Given the description of an element on the screen output the (x, y) to click on. 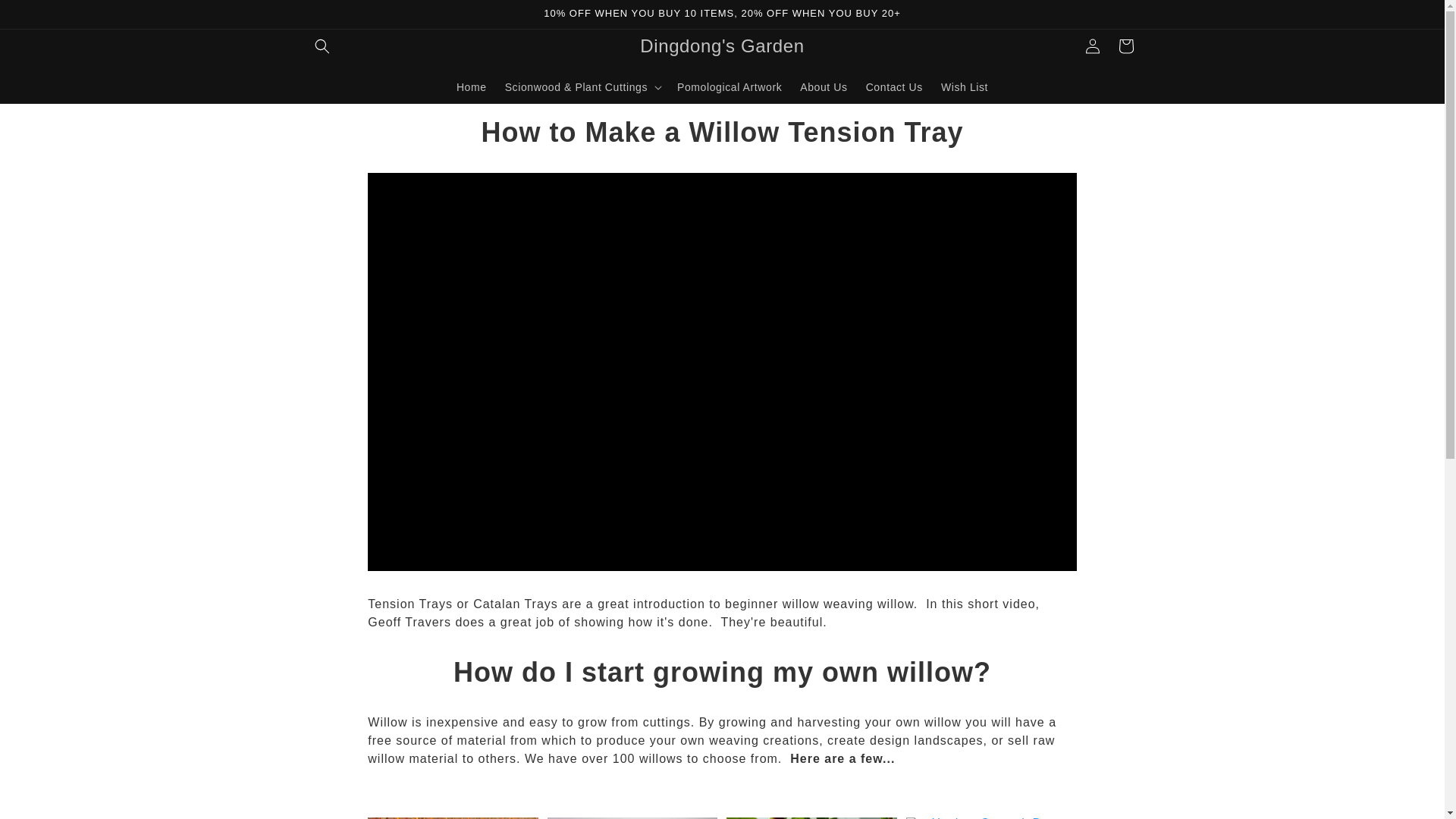
Pomological Artwork (729, 87)
Wish List (964, 87)
Contact Us (894, 87)
About Us (823, 87)
Dingdong's Garden (721, 46)
Home (471, 87)
Skip to content (45, 17)
